Given the description of an element on the screen output the (x, y) to click on. 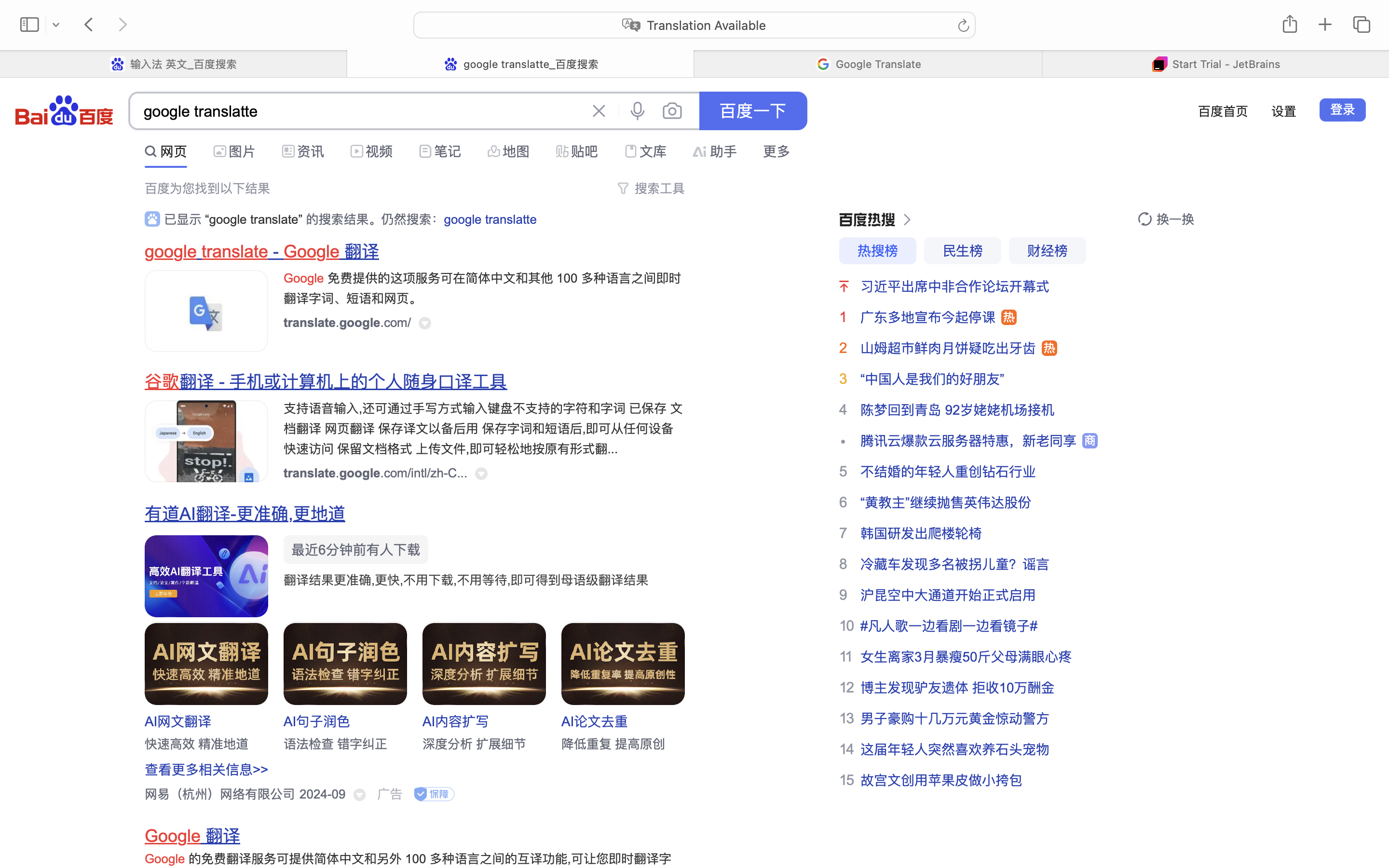
2 Element type: AXStaticText (842, 347)
 Element type: AXStaticText (493, 151)
山姆超市鲜肉月饼疑吃出牙齿 Element type: AXStaticText (947, 347)
AI句子润色 Element type: AXStaticText (317, 721)
 Element type: AXStaticText (288, 151)
